Given the description of an element on the screen output the (x, y) to click on. 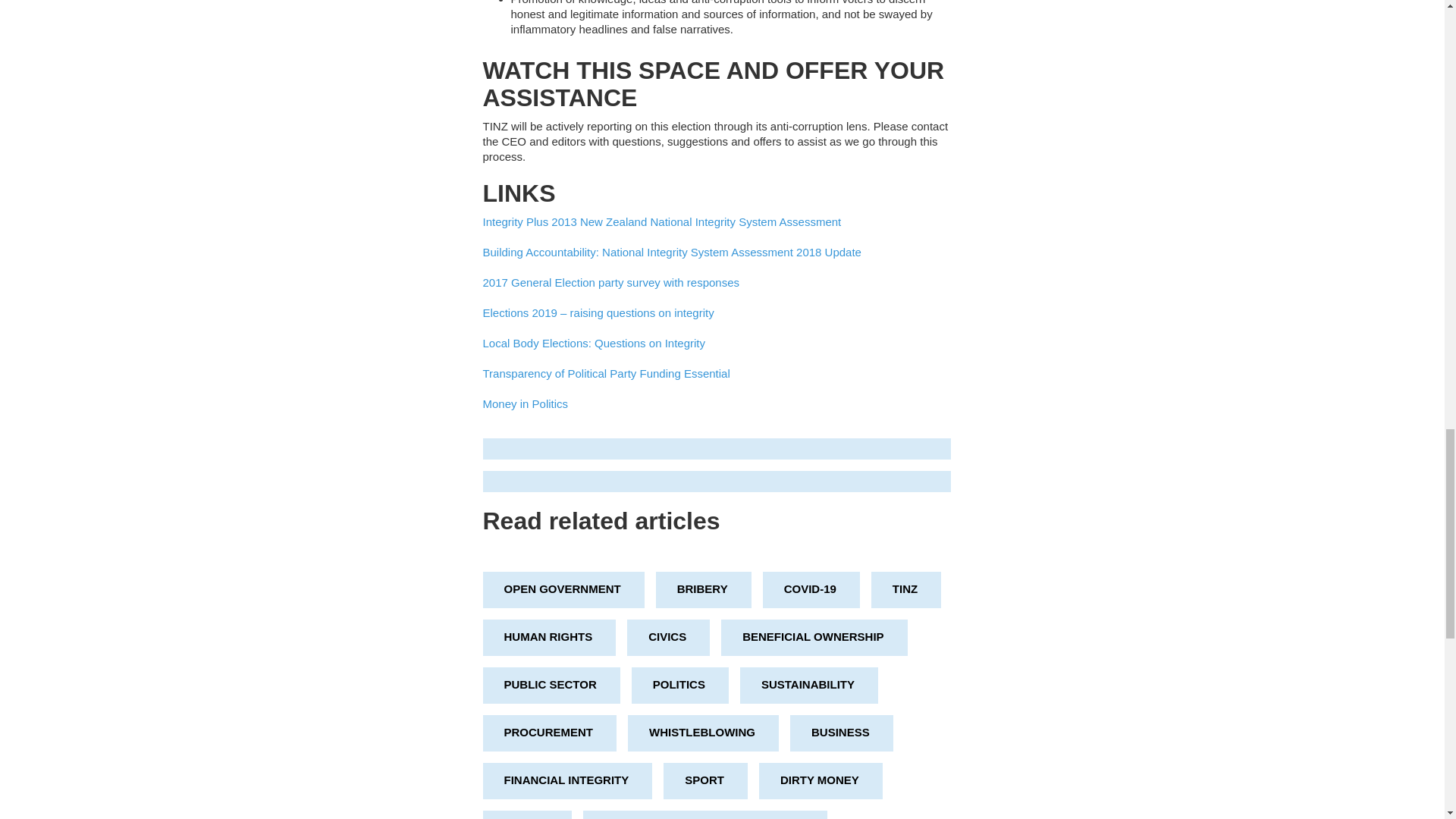
Money in Politics (524, 403)
2017 General Election party survey with responses (610, 282)
Transparency of Political Party Funding Essential (605, 373)
Local Body Elections: Questions on Integrity (592, 342)
